Given the description of an element on the screen output the (x, y) to click on. 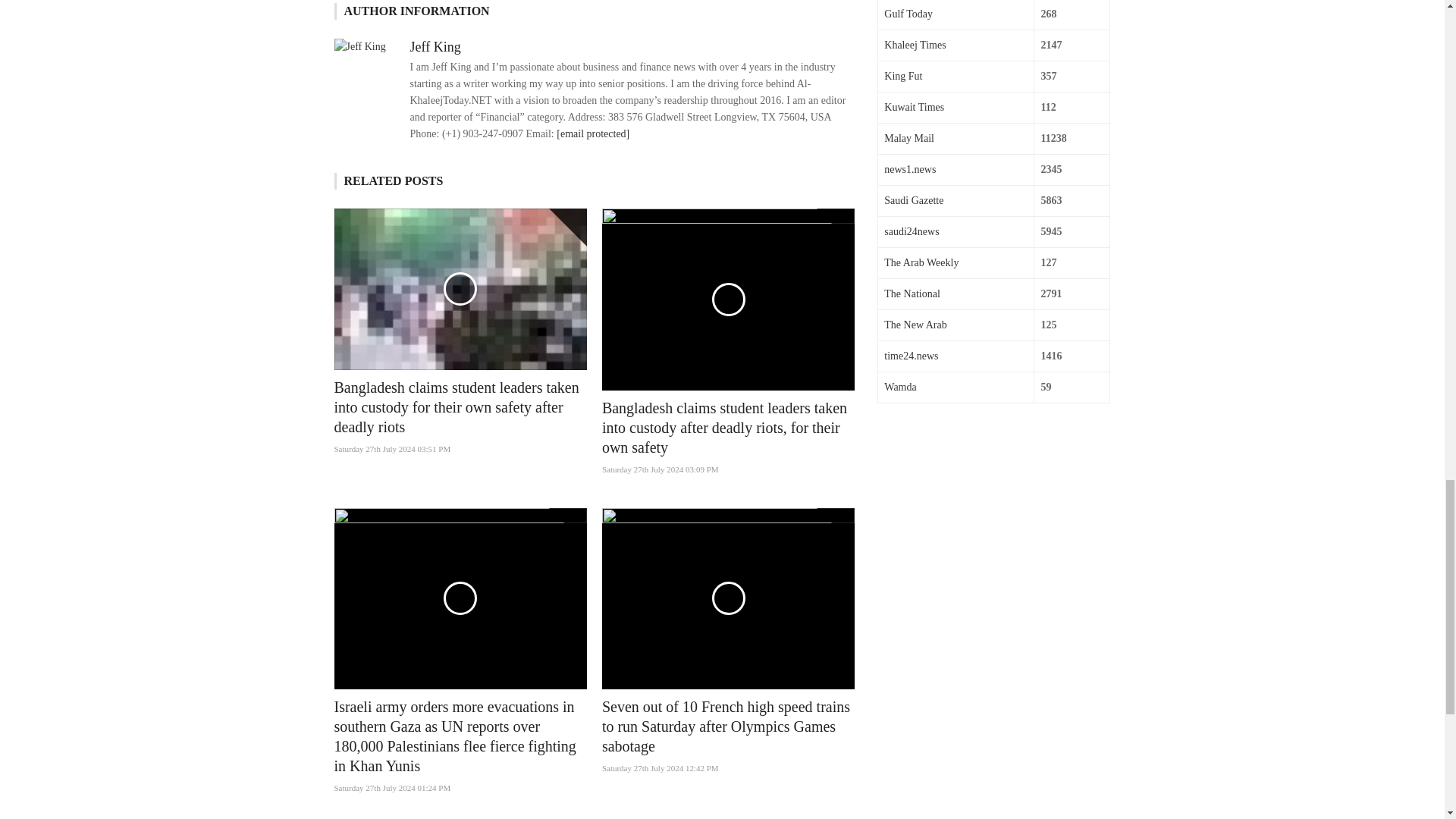
Jeff King (434, 46)
